Given the description of an element on the screen output the (x, y) to click on. 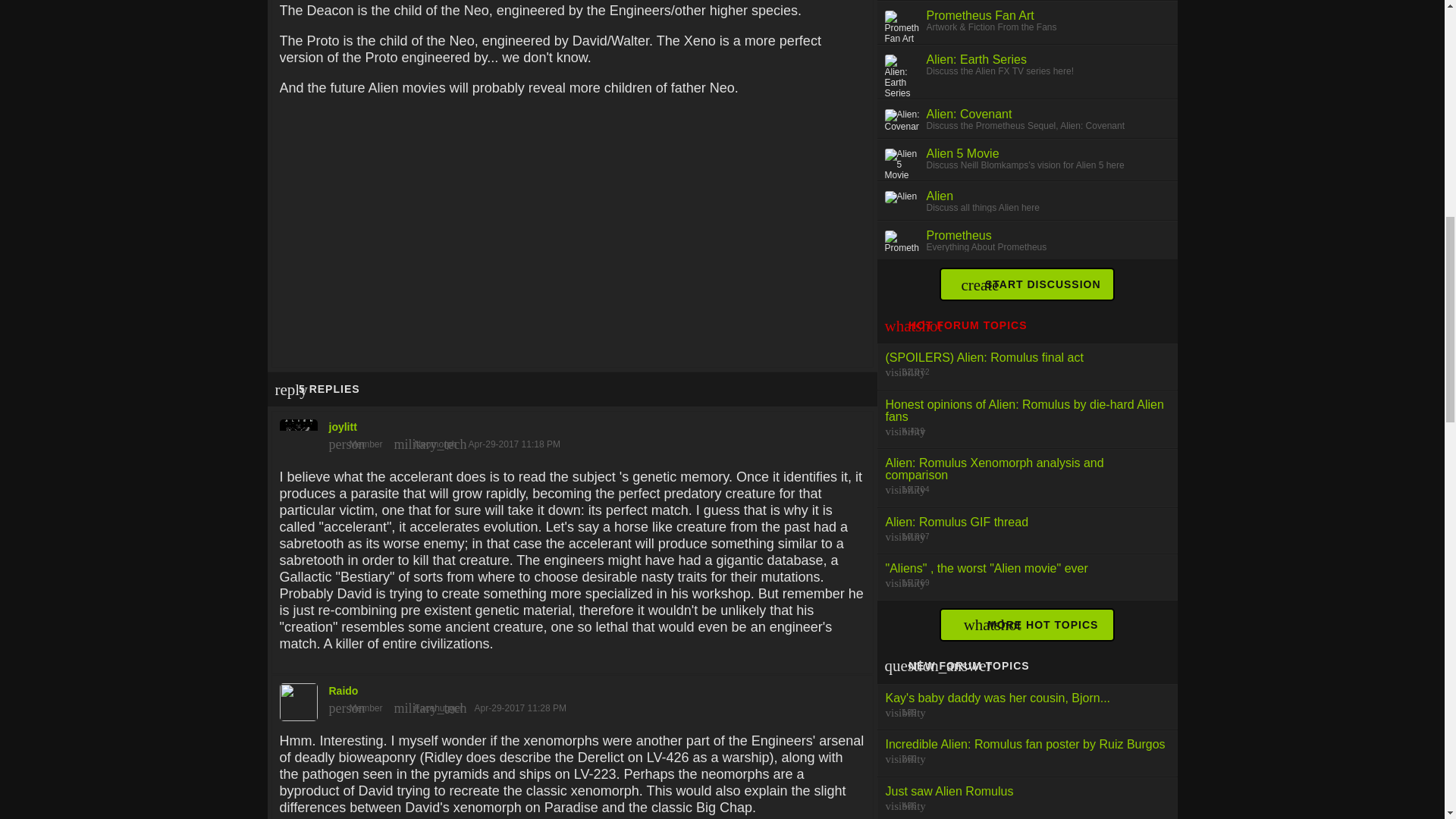
Alien: Earth Series (976, 59)
Alien: Covenant (968, 113)
Prometheus Fan Art (979, 15)
joylitt (571, 434)
Raido (571, 698)
